Given the description of an element on the screen output the (x, y) to click on. 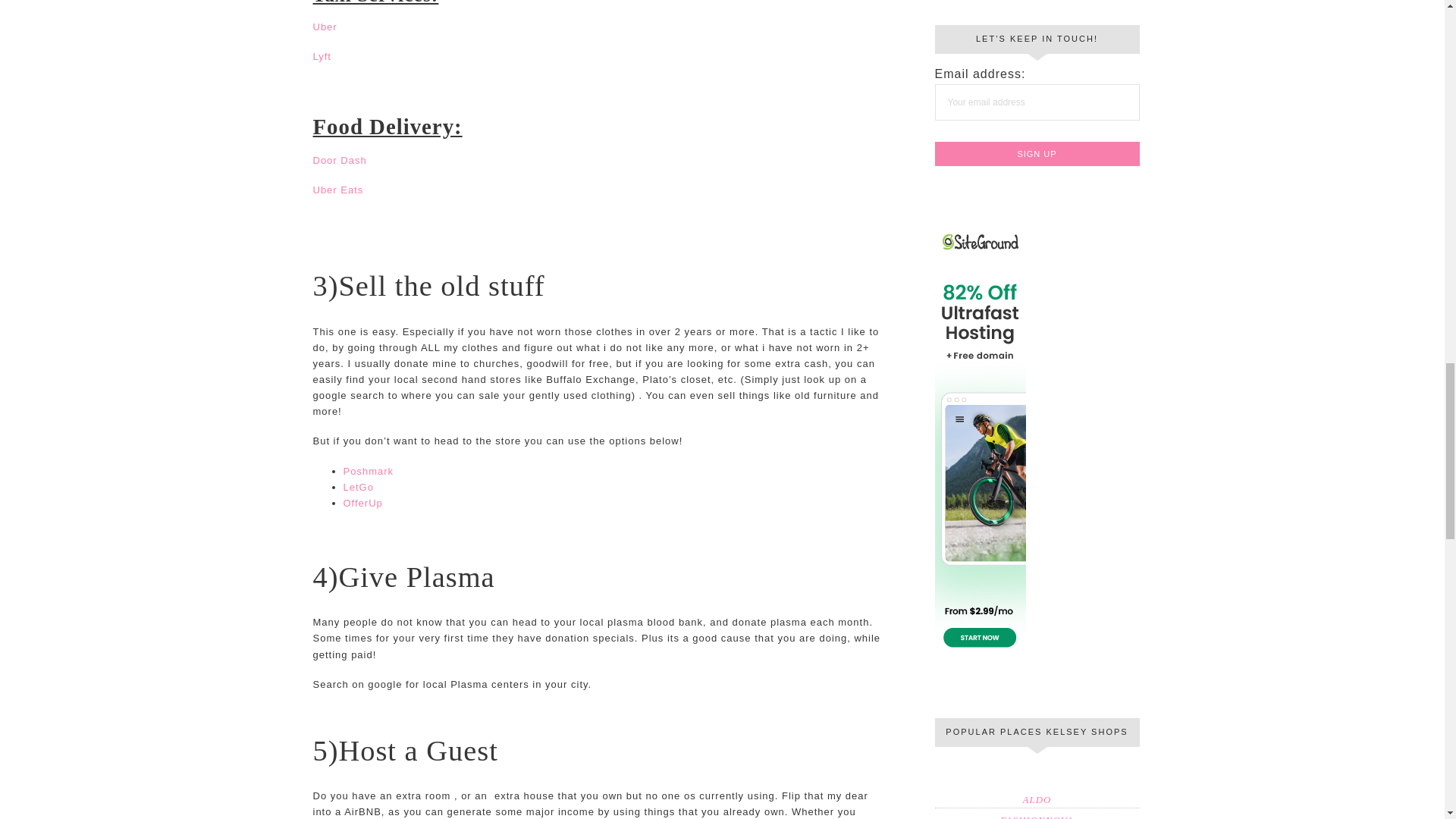
Uber Eats (337, 189)
Lyft (321, 56)
Poshmark (367, 471)
OfferUp (361, 502)
LetGo (357, 487)
Sign up (1036, 153)
Uber (324, 26)
Door Dash (339, 160)
